Given the description of an element on the screen output the (x, y) to click on. 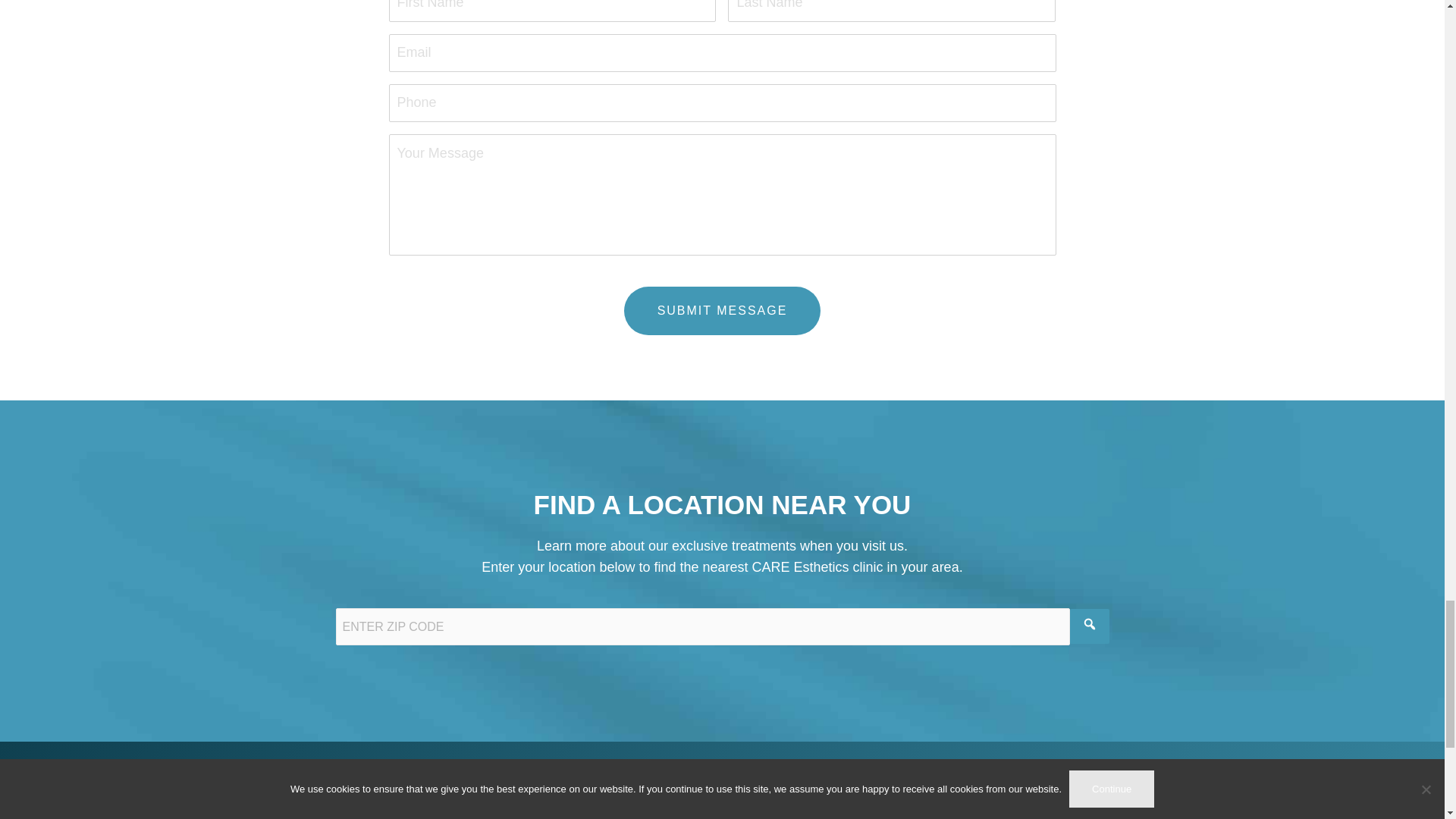
Search (1088, 626)
Submit Message (722, 310)
